Given the description of an element on the screen output the (x, y) to click on. 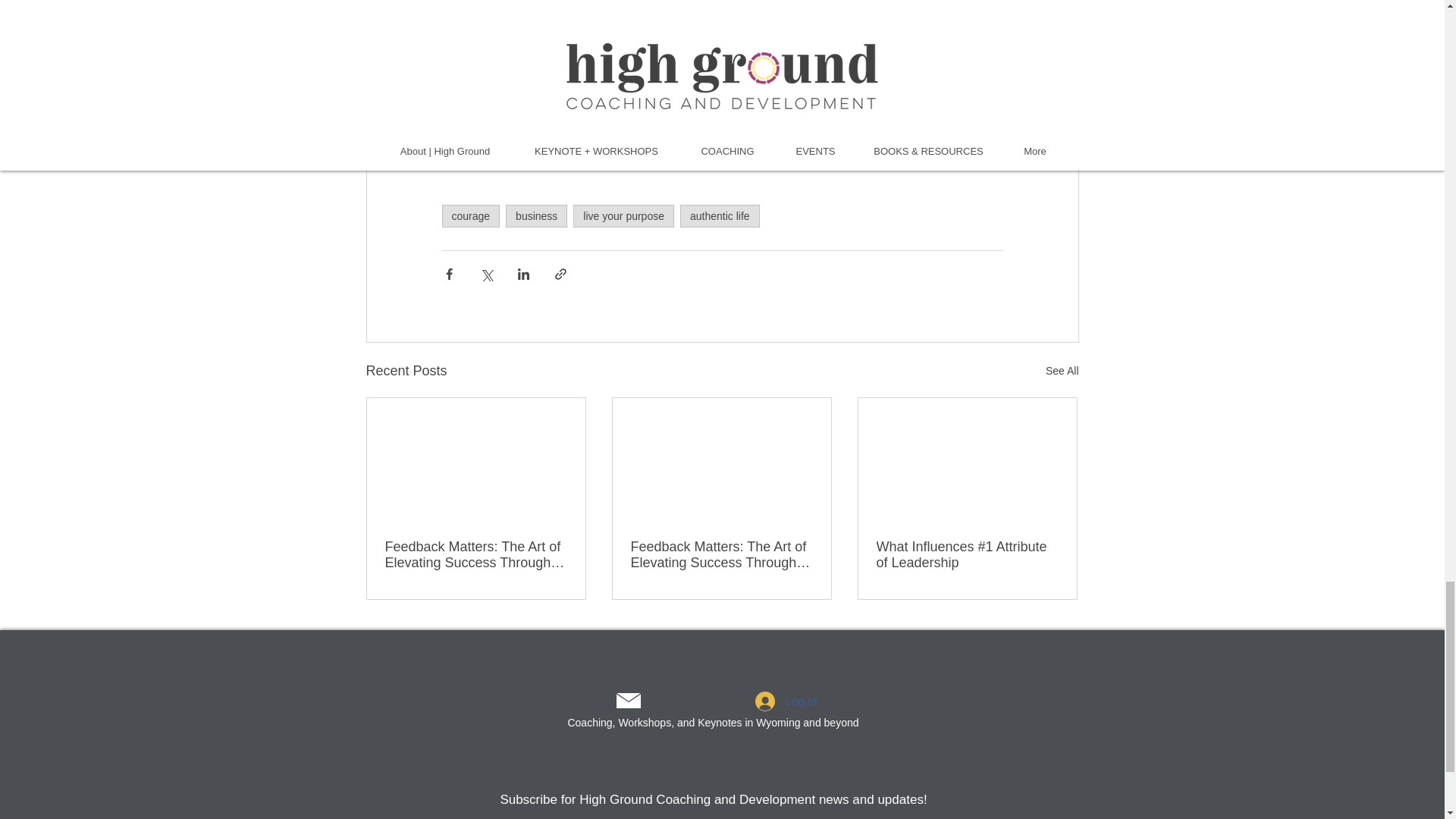
business (536, 215)
See All (1061, 371)
live your purpose (623, 215)
Log In (786, 701)
courage (470, 215)
authentic life (719, 215)
